Given the description of an element on the screen output the (x, y) to click on. 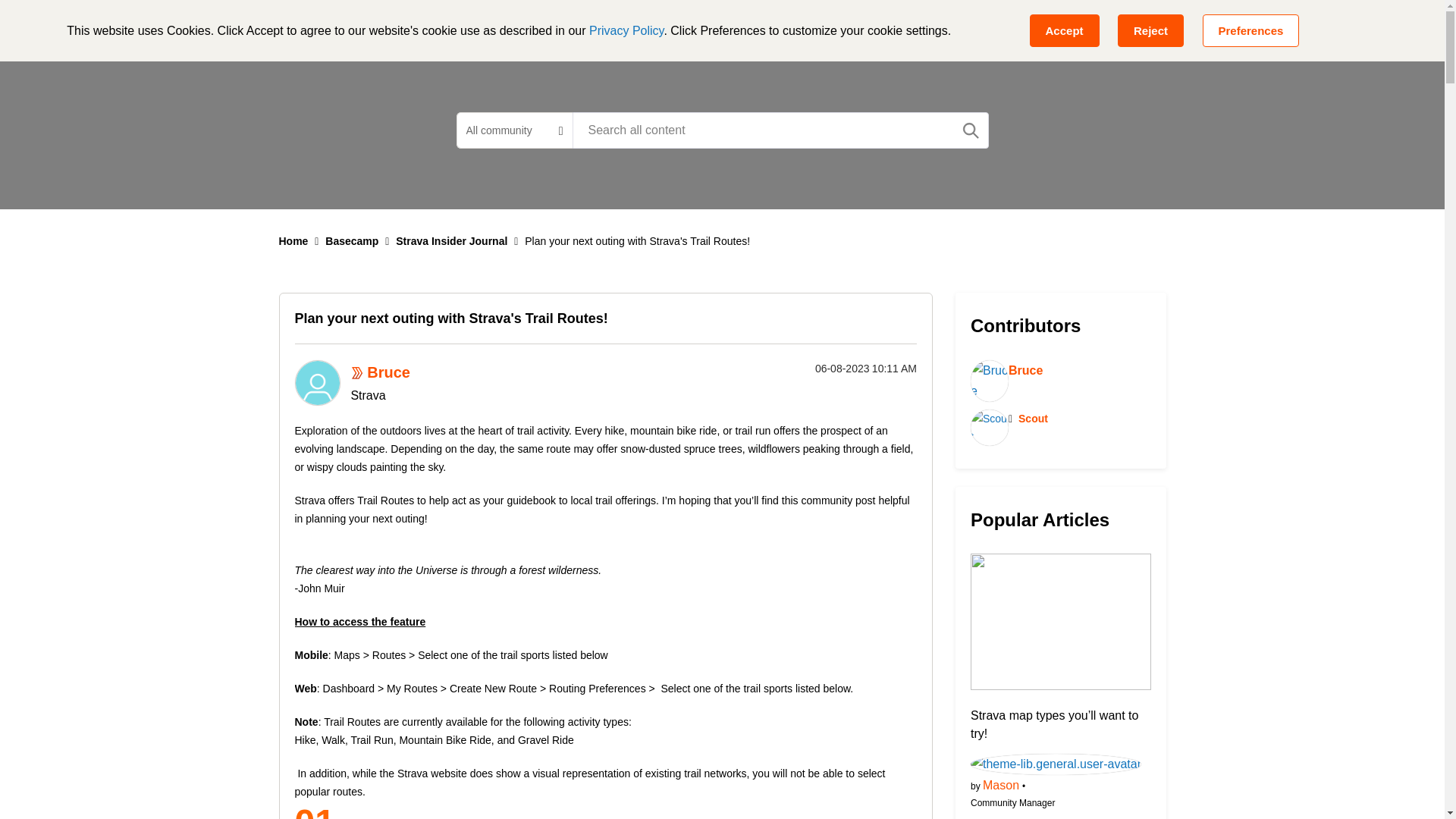
Strava (357, 372)
Preferences (1251, 30)
Search (780, 130)
Strava Insider Journal (451, 241)
The Club Hub (778, 25)
Developers (680, 25)
Bruce (388, 371)
Privacy Policy (626, 30)
Reject (1150, 30)
Posted on (839, 368)
